Given the description of an element on the screen output the (x, y) to click on. 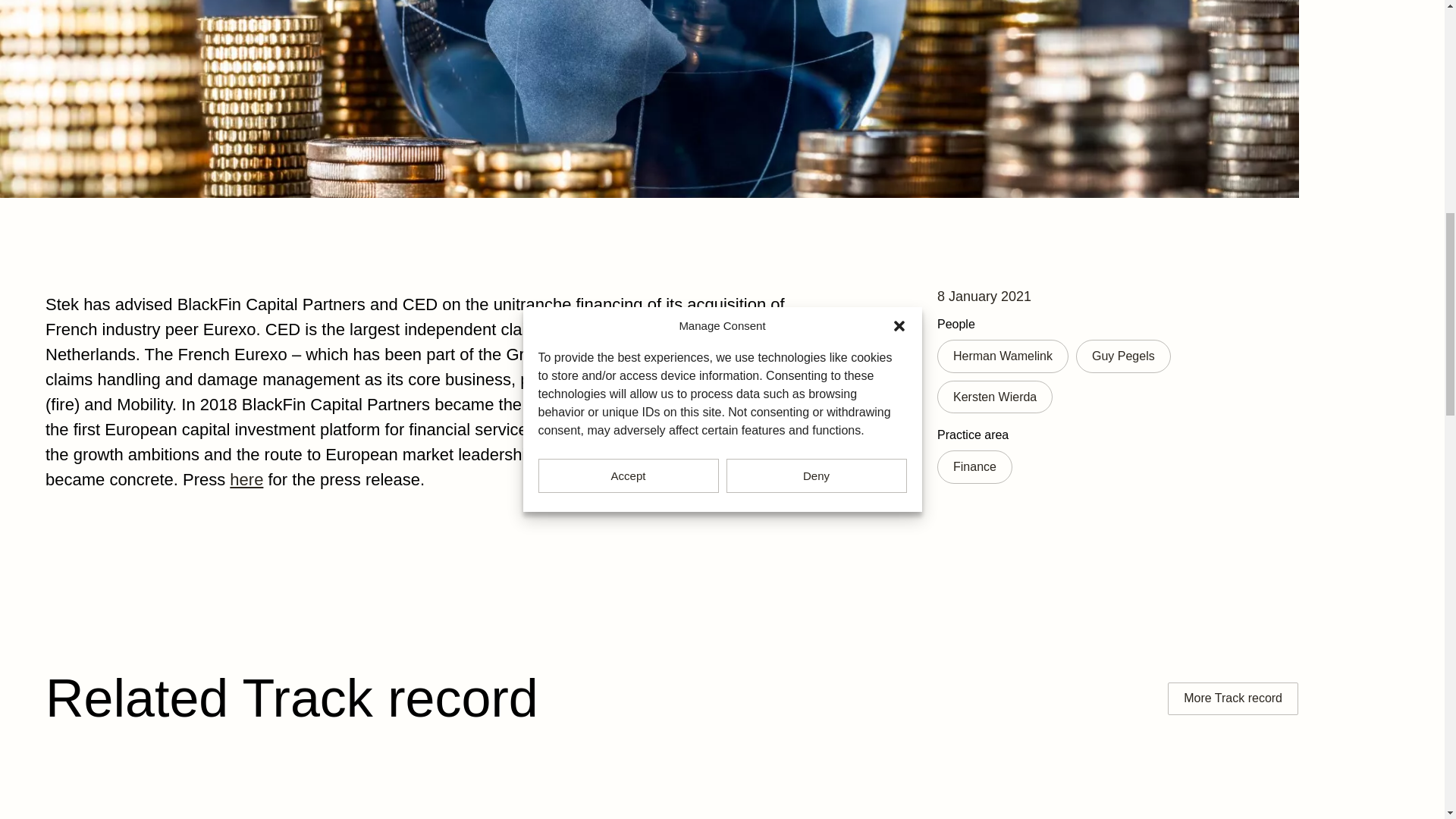
here (246, 479)
Herman Wamelink (1002, 356)
More Track record (1232, 698)
Kersten Wierda (994, 397)
Guy Pegels (1122, 356)
Finance (974, 467)
